Given the description of an element on the screen output the (x, y) to click on. 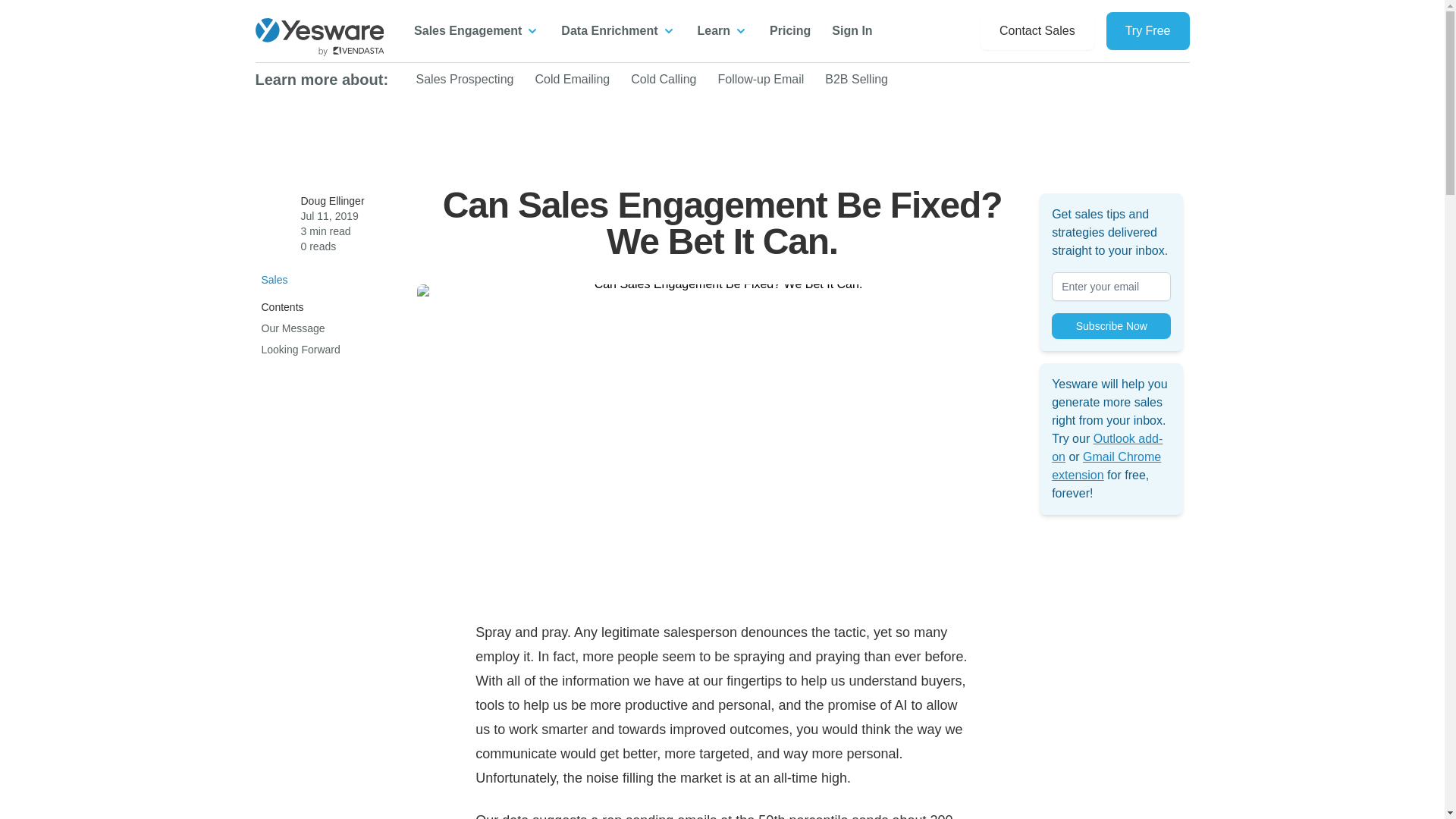
Learn (723, 31)
B2B Selling (856, 79)
Try Free (1147, 30)
Follow-up Email (760, 79)
Contact Sales (1036, 30)
Sign In (851, 31)
Our Message (292, 328)
Yesware (319, 37)
Sales Prospecting (463, 79)
Sales (332, 279)
